Given the description of an element on the screen output the (x, y) to click on. 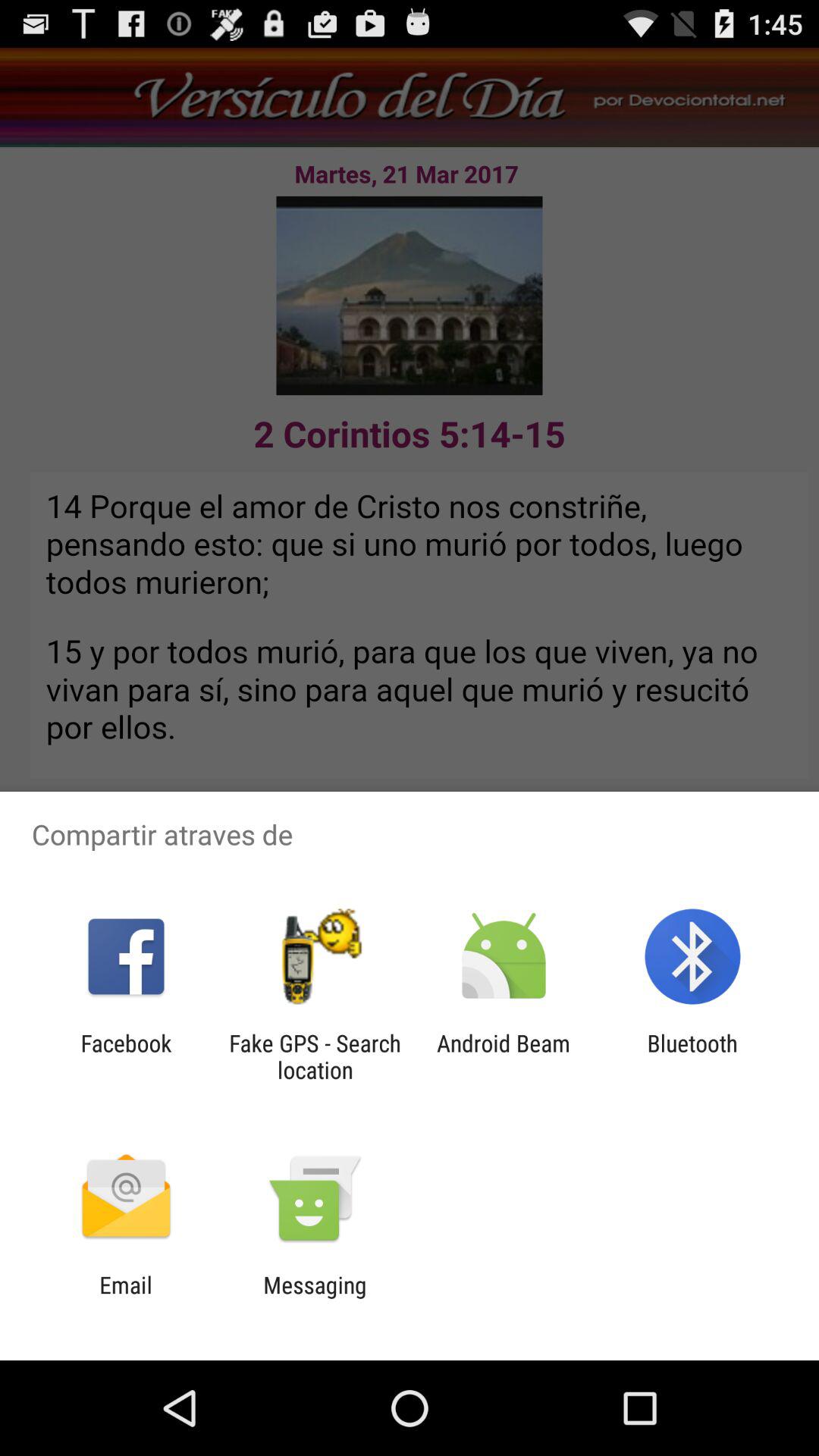
click the app next to android beam item (692, 1056)
